Given the description of an element on the screen output the (x, y) to click on. 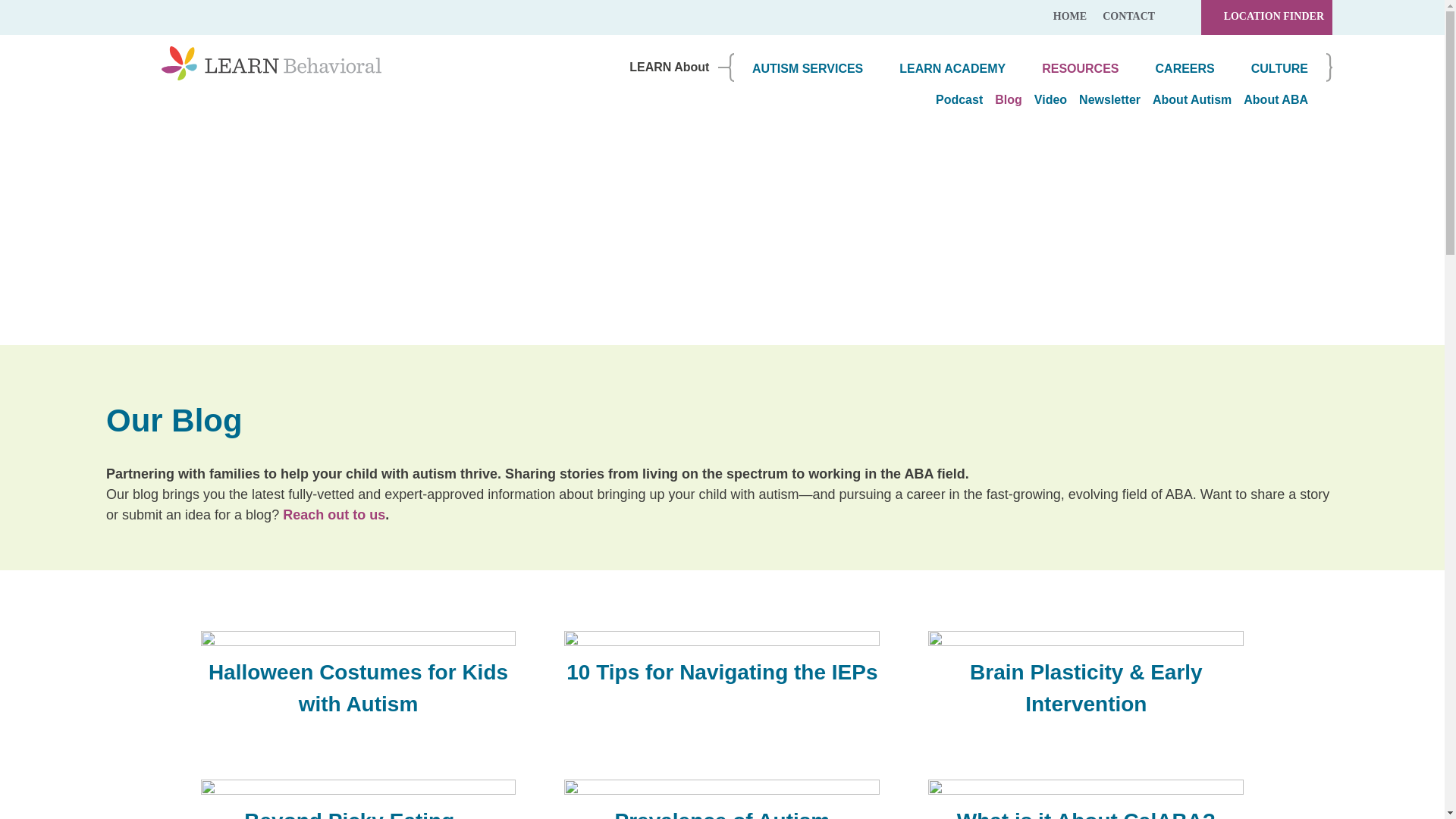
HOME (1069, 17)
CAREERS (1185, 69)
Halloween Costumes for Kids with Autism (357, 680)
About Autism (1185, 100)
CONTACT (1128, 17)
Podcast (952, 100)
What is it About CalABA? (1085, 799)
LOCATION FINDER (1266, 17)
LEARN ACADEMY (951, 69)
RESOURCES (1080, 69)
AUTISM SERVICES (806, 69)
10 Tips for Navigating the IEPs (721, 664)
About ABA (1269, 100)
Blog (1002, 100)
Video (1044, 100)
